Given the description of an element on the screen output the (x, y) to click on. 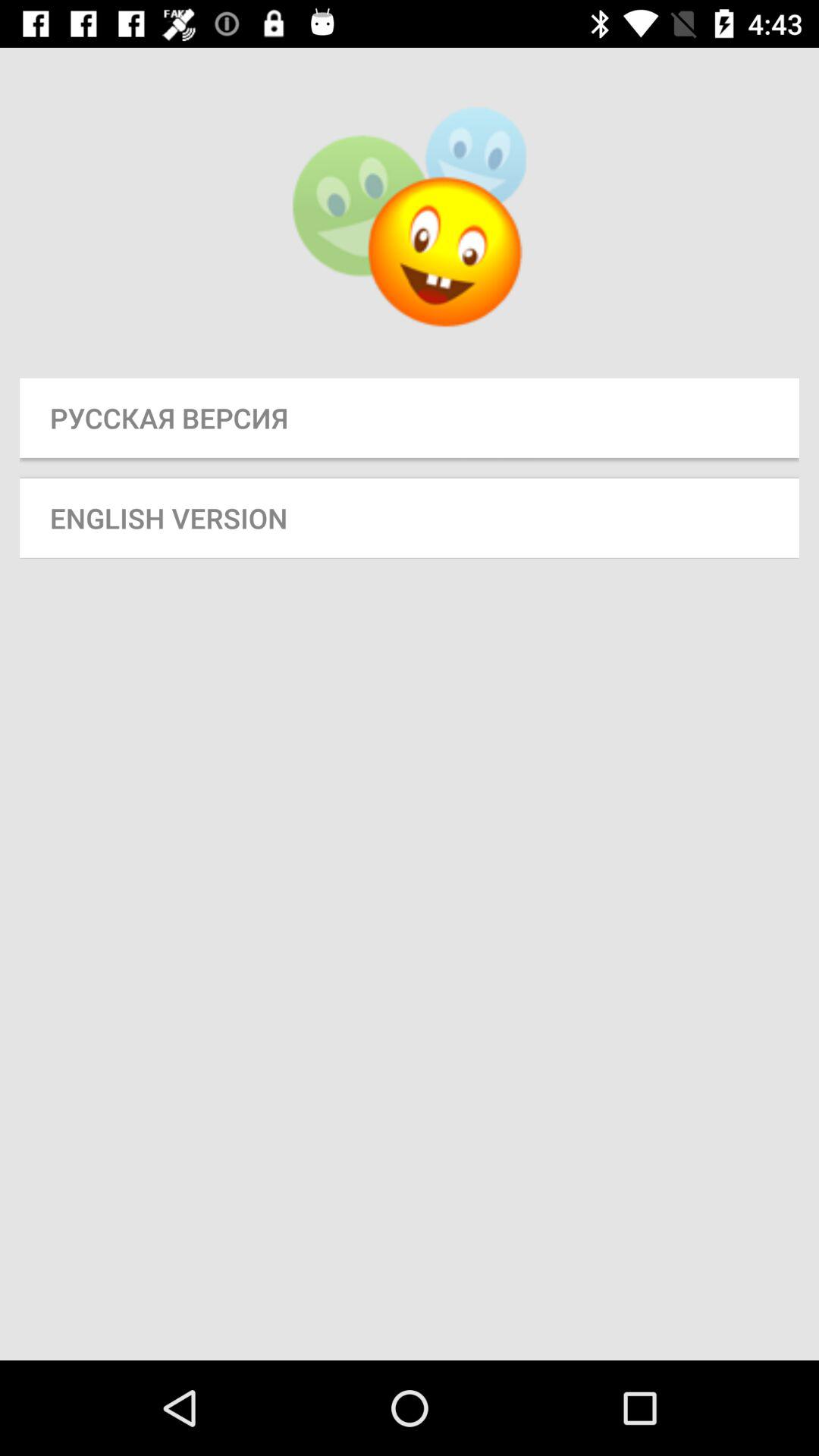
turn off the item at the center (409, 517)
